Given the description of an element on the screen output the (x, y) to click on. 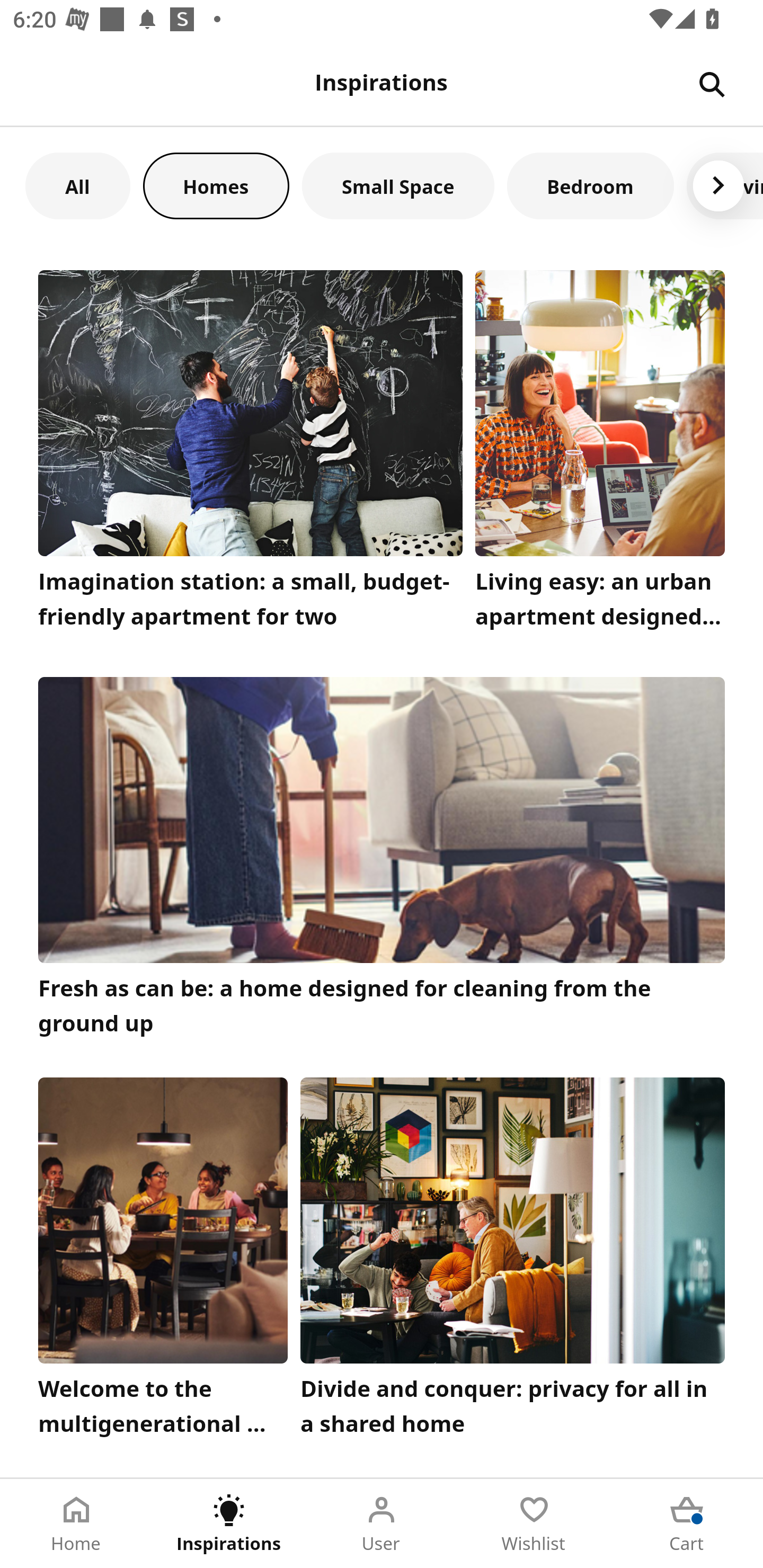
All (77, 185)
Homes (216, 185)
Small Space (398, 185)
Bedroom (590, 185)
Welcome to the multigenerational home (162, 1261)
Home
Tab 1 of 5 (76, 1522)
Inspirations
Tab 2 of 5 (228, 1522)
User
Tab 3 of 5 (381, 1522)
Wishlist
Tab 4 of 5 (533, 1522)
Cart
Tab 5 of 5 (686, 1522)
